Given the description of an element on the screen output the (x, y) to click on. 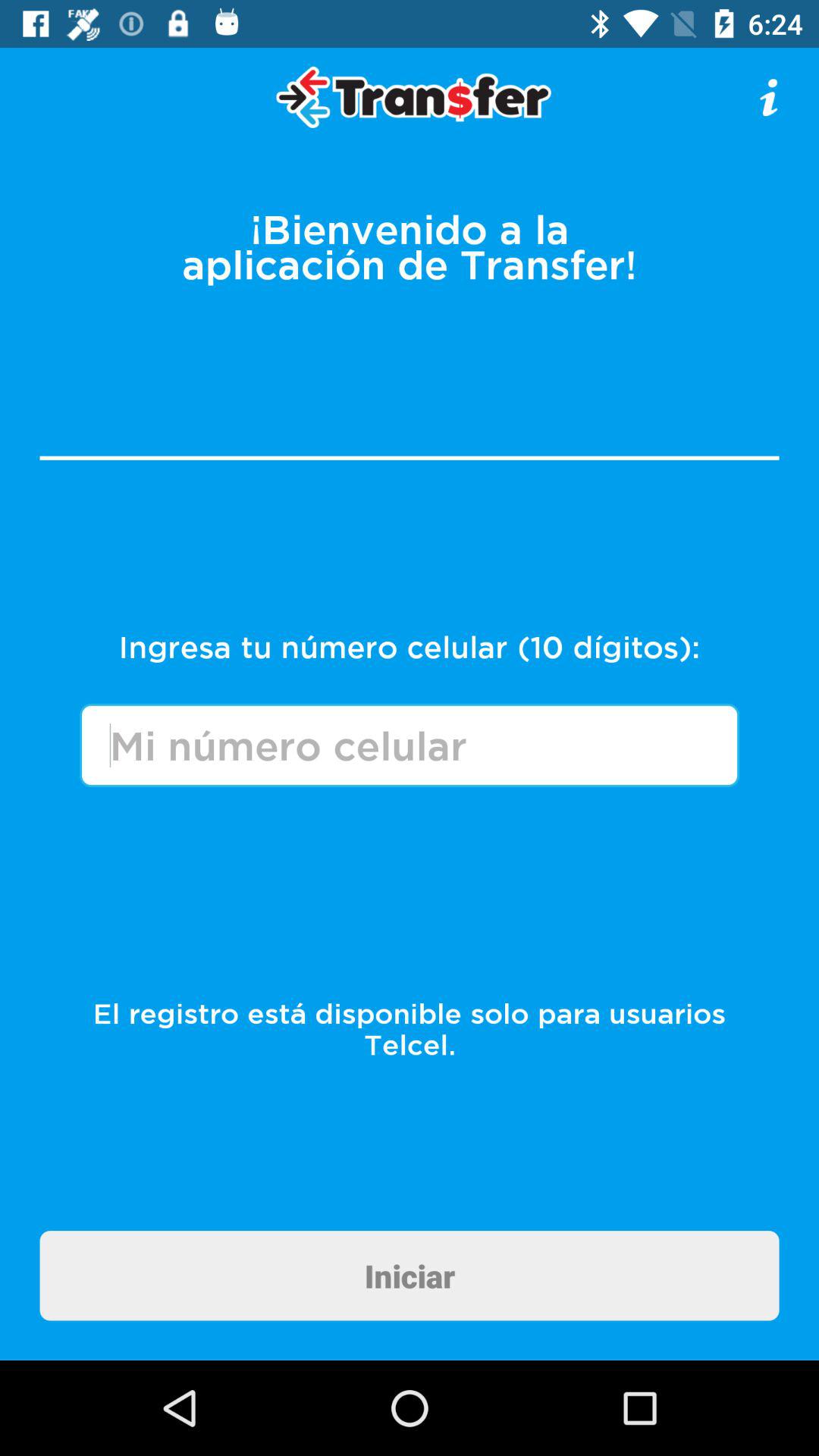
swipe to iniciar item (409, 1275)
